Given the description of an element on the screen output the (x, y) to click on. 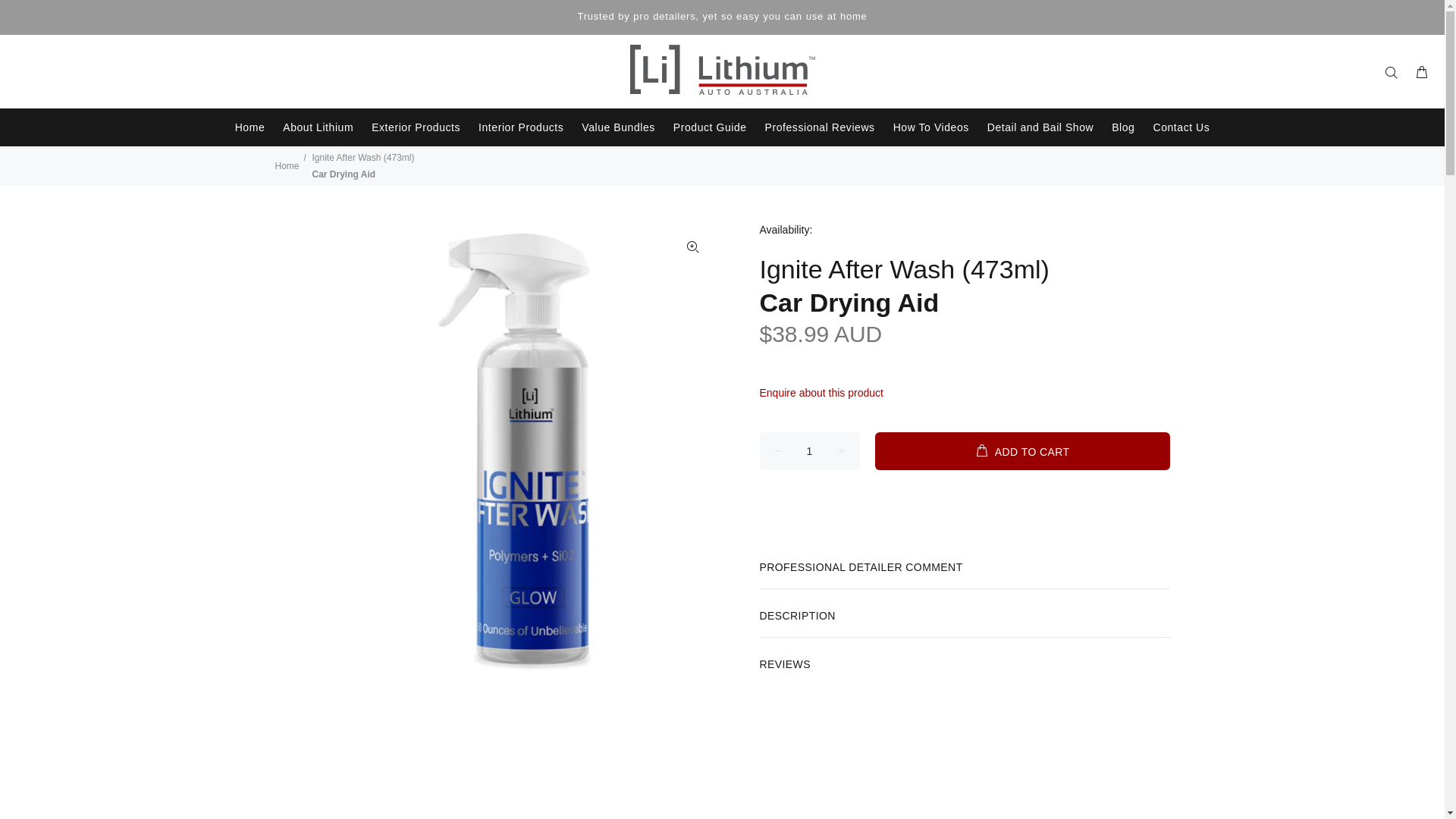
Interior Products Element type: text (520, 127)
Blog Element type: text (1122, 127)
How To Videos Element type: text (931, 127)
Enquire about this product Element type: text (825, 392)
About Lithium Element type: text (317, 127)
Detail and Bail Show Element type: text (1040, 127)
Home Element type: text (286, 165)
Value Bundles Element type: text (618, 127)
Contact Us Element type: text (1176, 127)
Home Element type: text (249, 127)
ADD TO CART Element type: text (1022, 451)
Exterior Products Element type: text (415, 127)
Professional Reviews Element type: text (820, 127)
Product Guide Element type: text (710, 127)
